Given the description of an element on the screen output the (x, y) to click on. 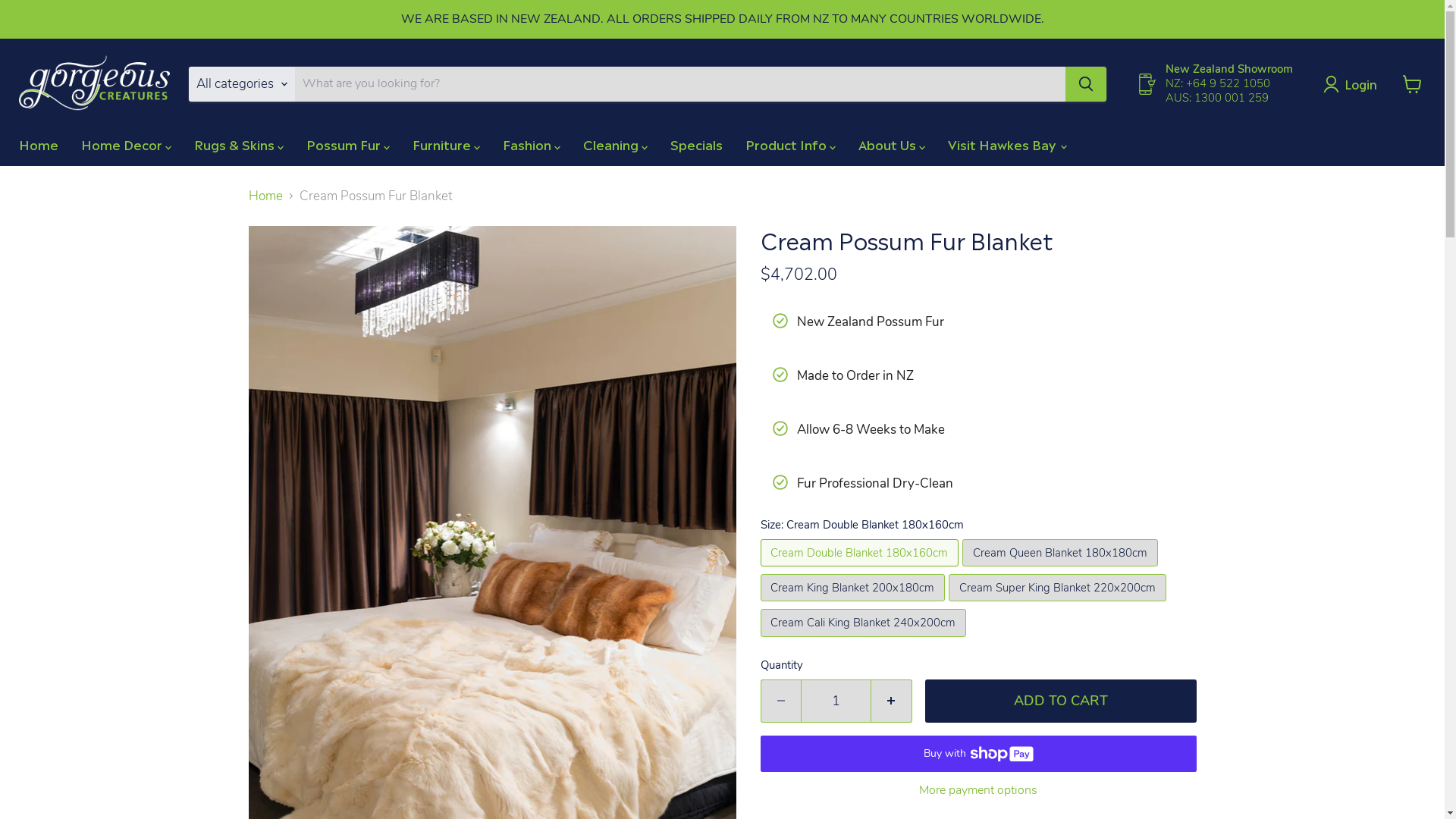
New Zealand Showroom
NZ: +64 9 522 1050
AUS: 1300 001 259 Element type: text (1214, 84)
Login Element type: text (1353, 84)
View cart Element type: text (1412, 83)
Home Element type: text (265, 195)
Home Element type: text (38, 143)
More payment options Element type: text (977, 790)
Specials Element type: text (696, 143)
ADD TO CART Element type: text (1060, 700)
